Given the description of an element on the screen output the (x, y) to click on. 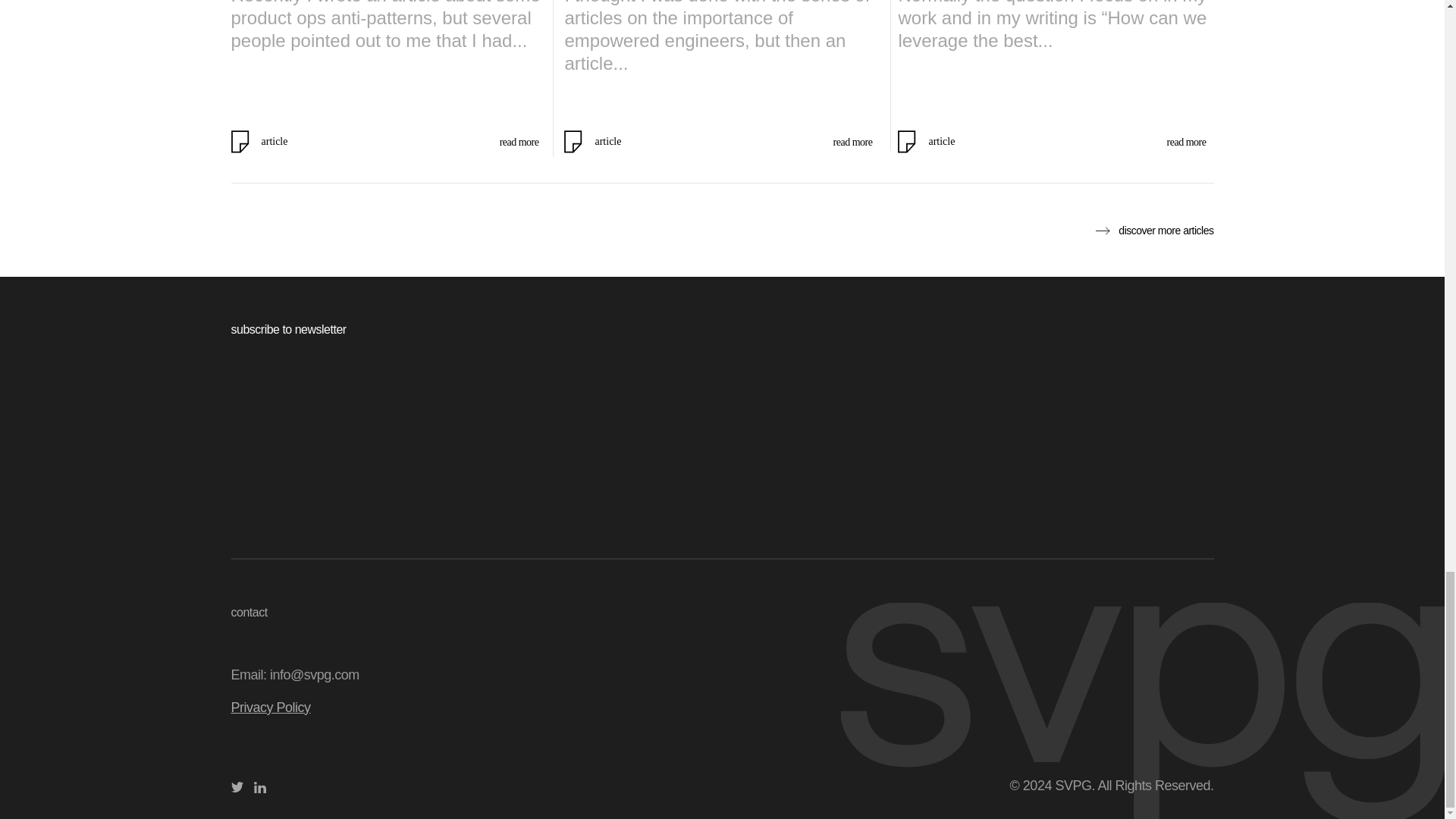
Form 2 (721, 441)
